Given the description of an element on the screen output the (x, y) to click on. 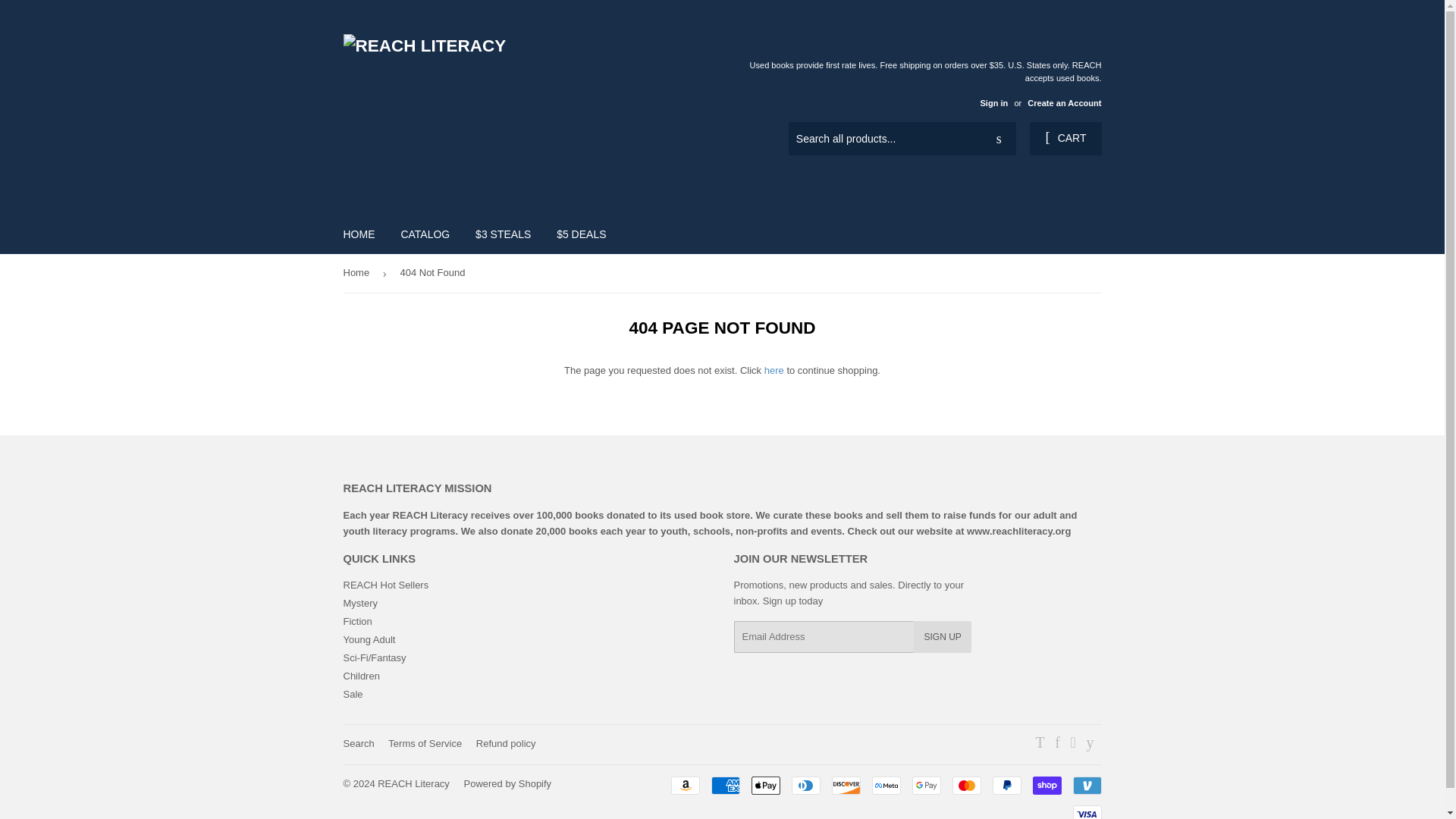
Terms of Service (424, 743)
Powered by Shopify (507, 783)
SIGN UP (942, 636)
Refund policy (505, 743)
Google Pay (925, 785)
Search (358, 743)
Venmo (1085, 785)
Shop Pay (1046, 785)
Diners Club (806, 785)
Mastercard (966, 785)
